Given the description of an element on the screen output the (x, y) to click on. 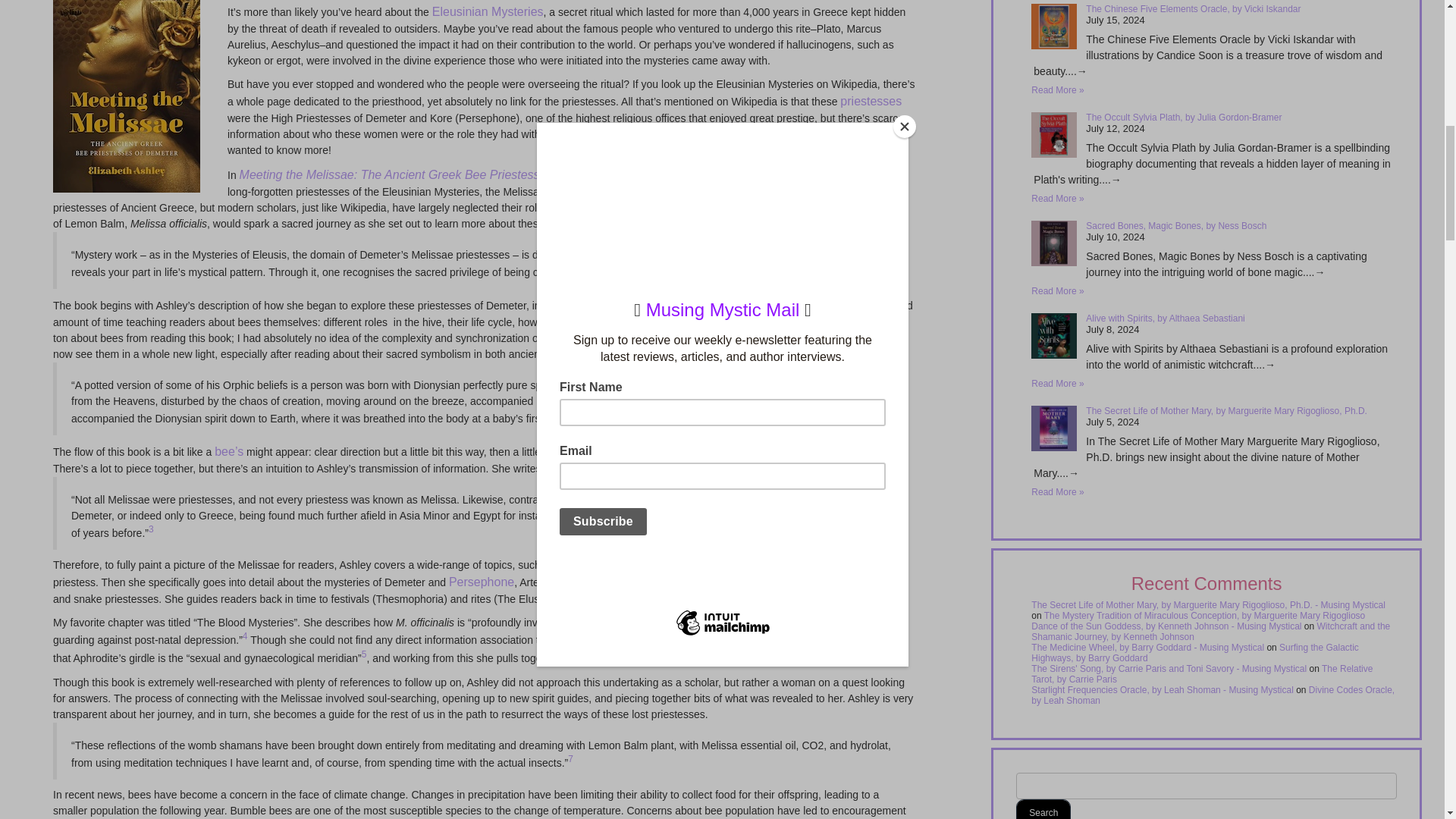
priestesses (870, 101)
shamanism (702, 305)
Search (1043, 809)
Persephone (480, 581)
Eleusinian Mysteries (487, 11)
